Given the description of an element on the screen output the (x, y) to click on. 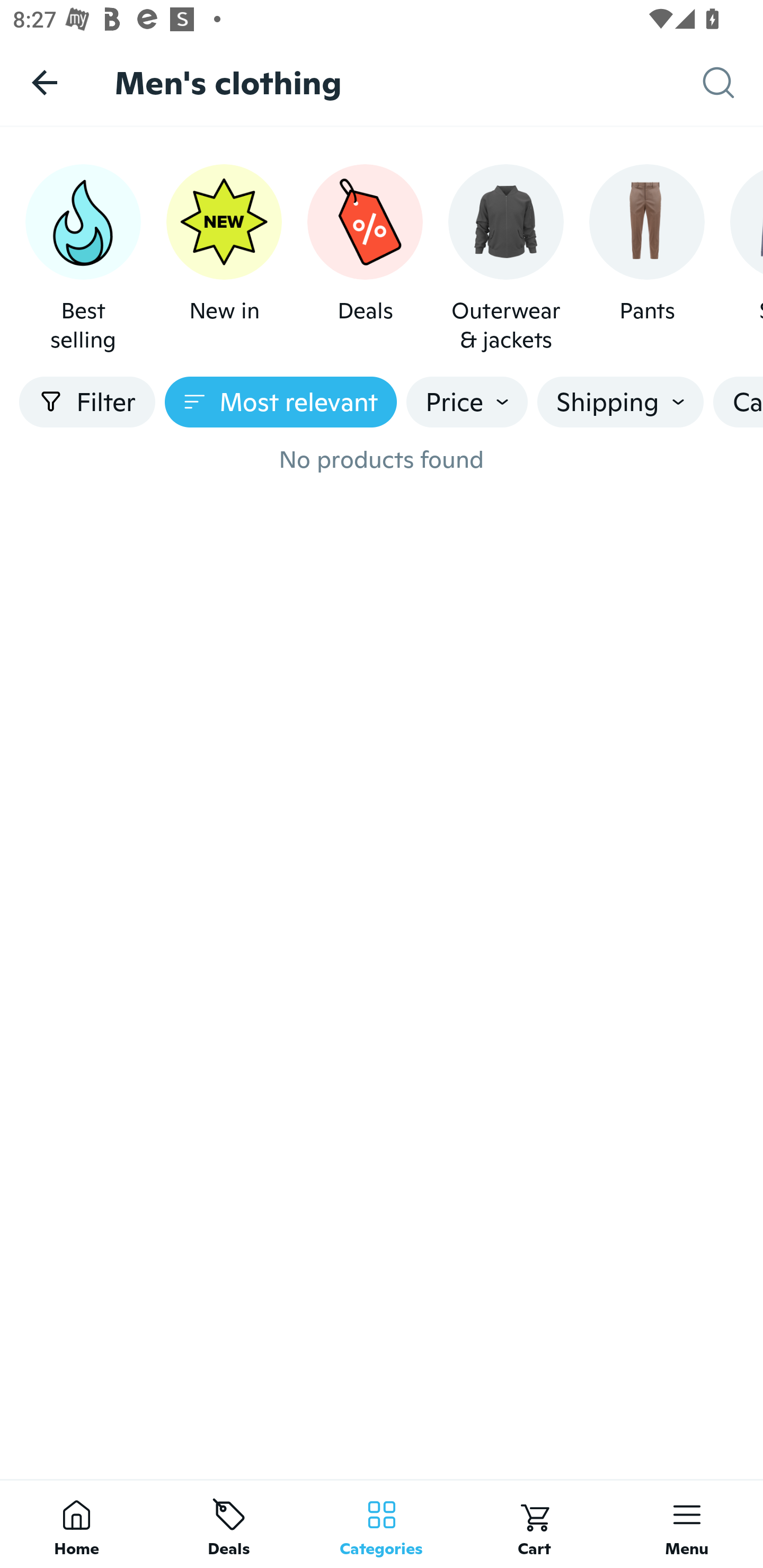
Navigate up (44, 82)
Search (732, 82)
Best selling (83, 259)
New in (223, 259)
Deals (364, 259)
Outerwear & jackets (505, 259)
Pants (647, 259)
Filter (86, 402)
Most relevant (280, 402)
Price (466, 402)
Shipping (620, 402)
Home (76, 1523)
Deals (228, 1523)
Categories (381, 1523)
Cart (533, 1523)
Menu (686, 1523)
